Given the description of an element on the screen output the (x, y) to click on. 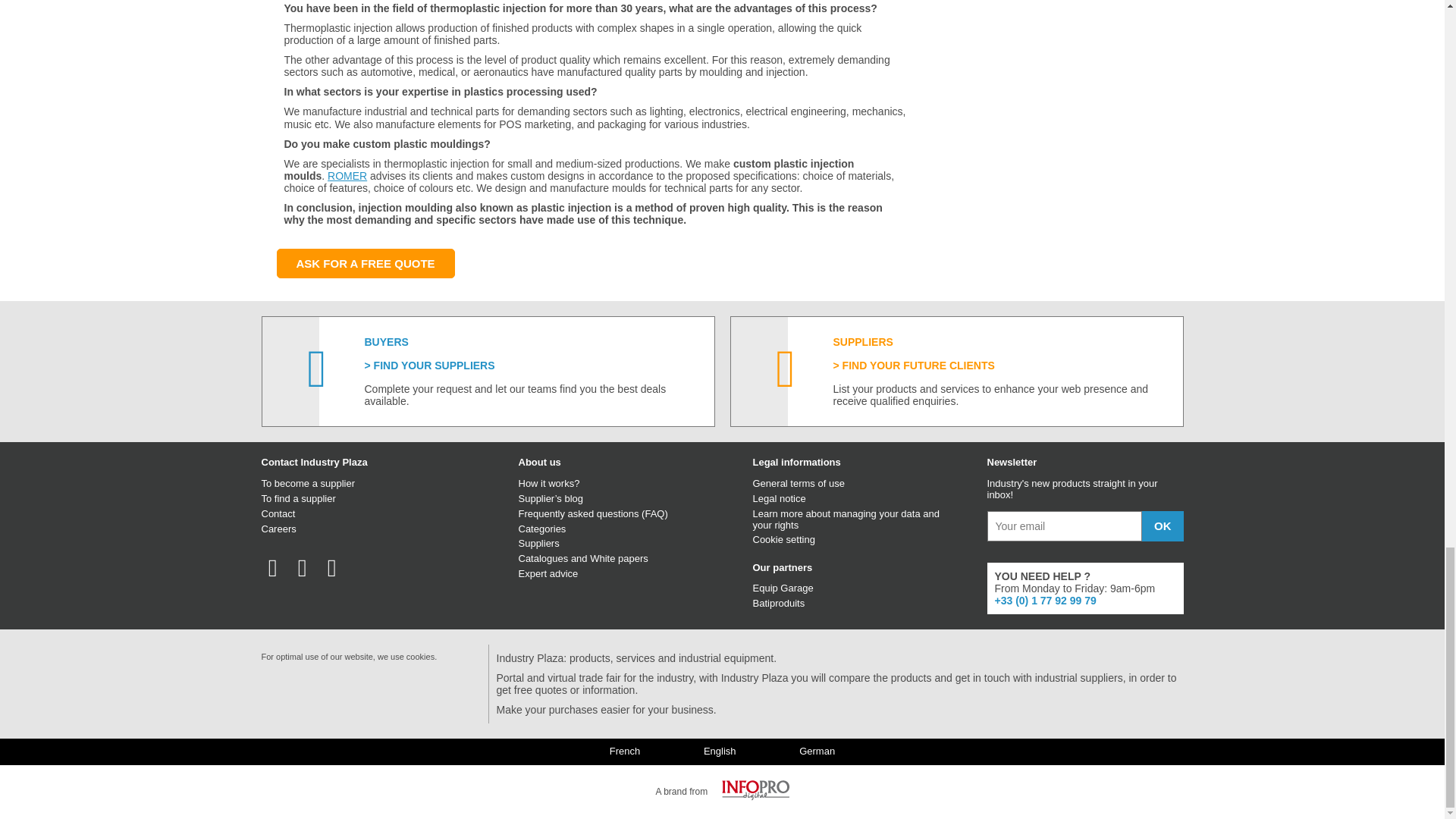
To become a supplier (307, 482)
ROMER (346, 175)
Contact (277, 513)
To find a supplier (297, 498)
ok (1162, 526)
ASK FOR A FREE QUOTE (365, 263)
